Given the description of an element on the screen output the (x, y) to click on. 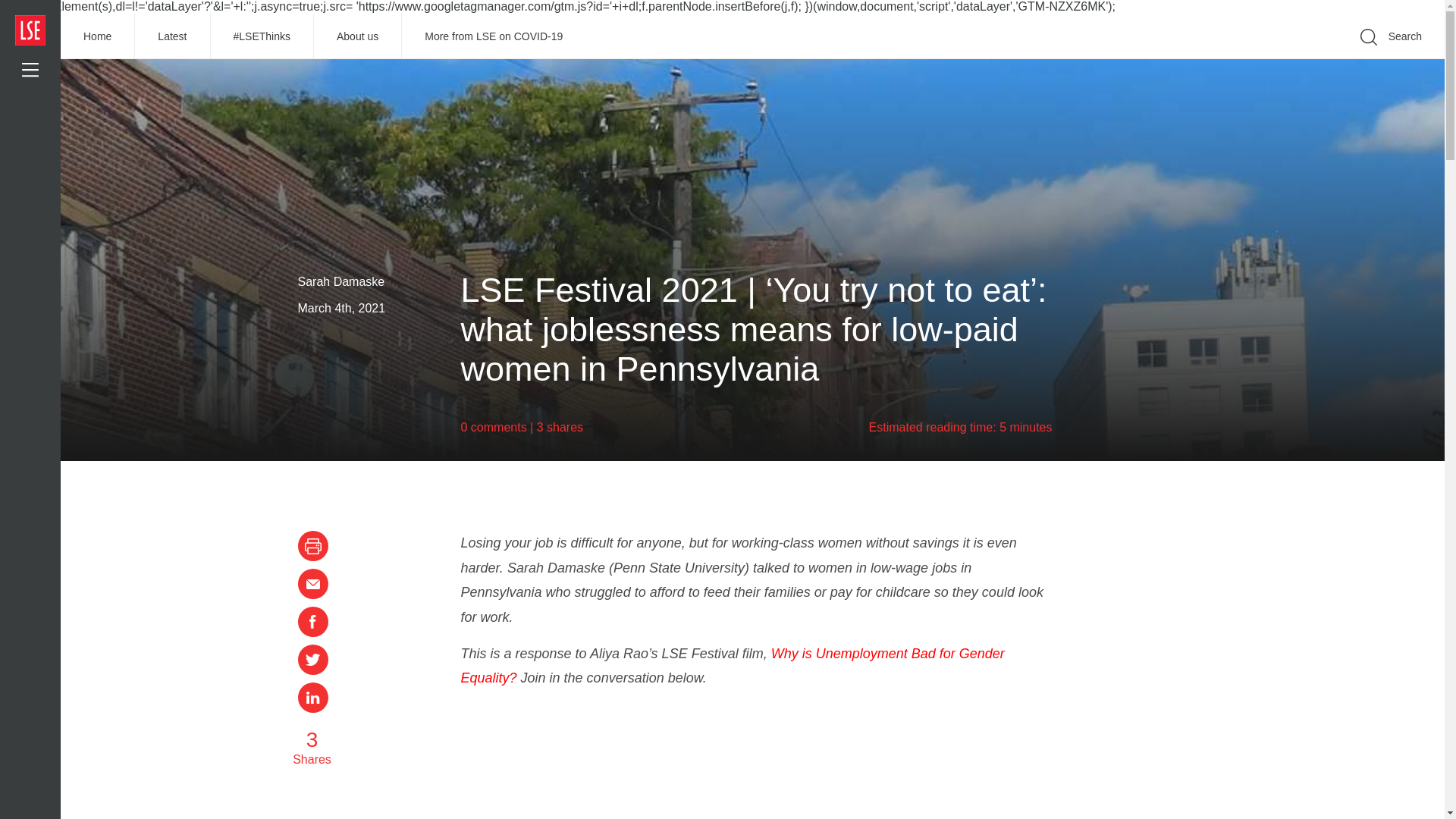
0 comments (494, 427)
Go (1190, 58)
More from LSE on COVID-19 (493, 35)
Home (98, 35)
Latest (172, 35)
Why is Unemployment Bad for Gender Equality? (732, 665)
About us (357, 35)
